Given the description of an element on the screen output the (x, y) to click on. 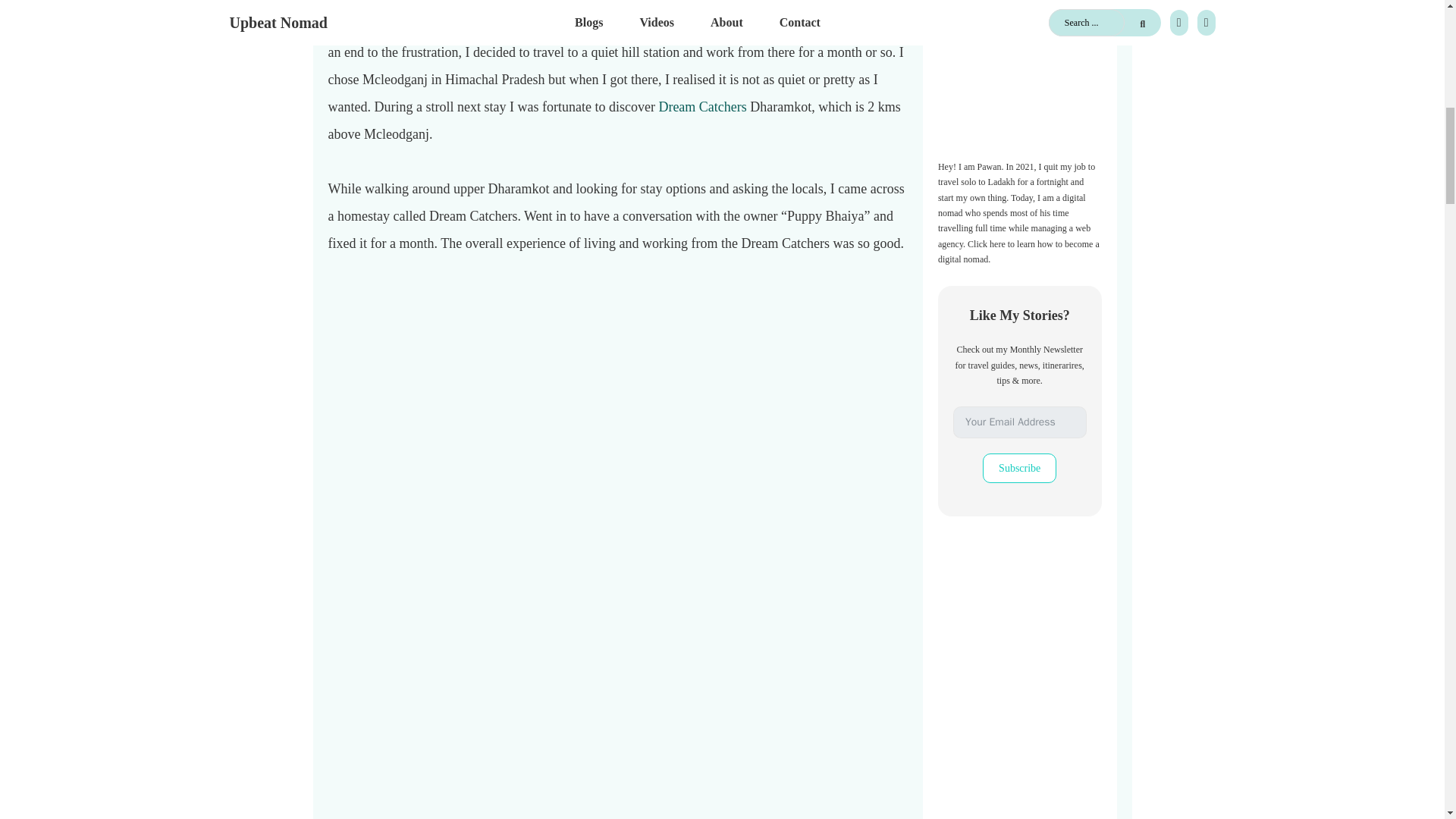
Dream Catchers (701, 106)
Subscribe (1019, 468)
